Given the description of an element on the screen output the (x, y) to click on. 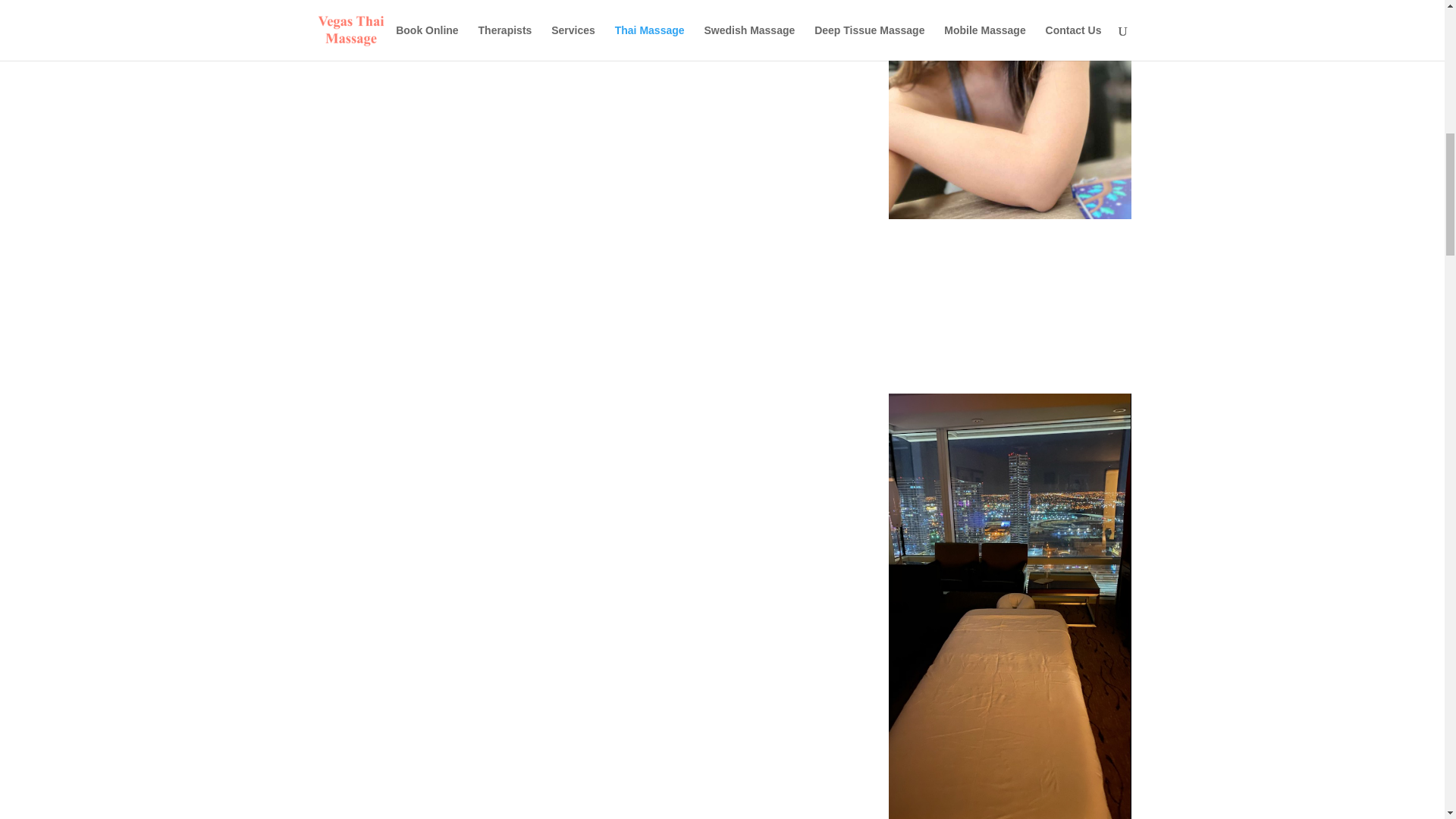
Dao-thai-massage (1009, 109)
